Given the description of an element on the screen output the (x, y) to click on. 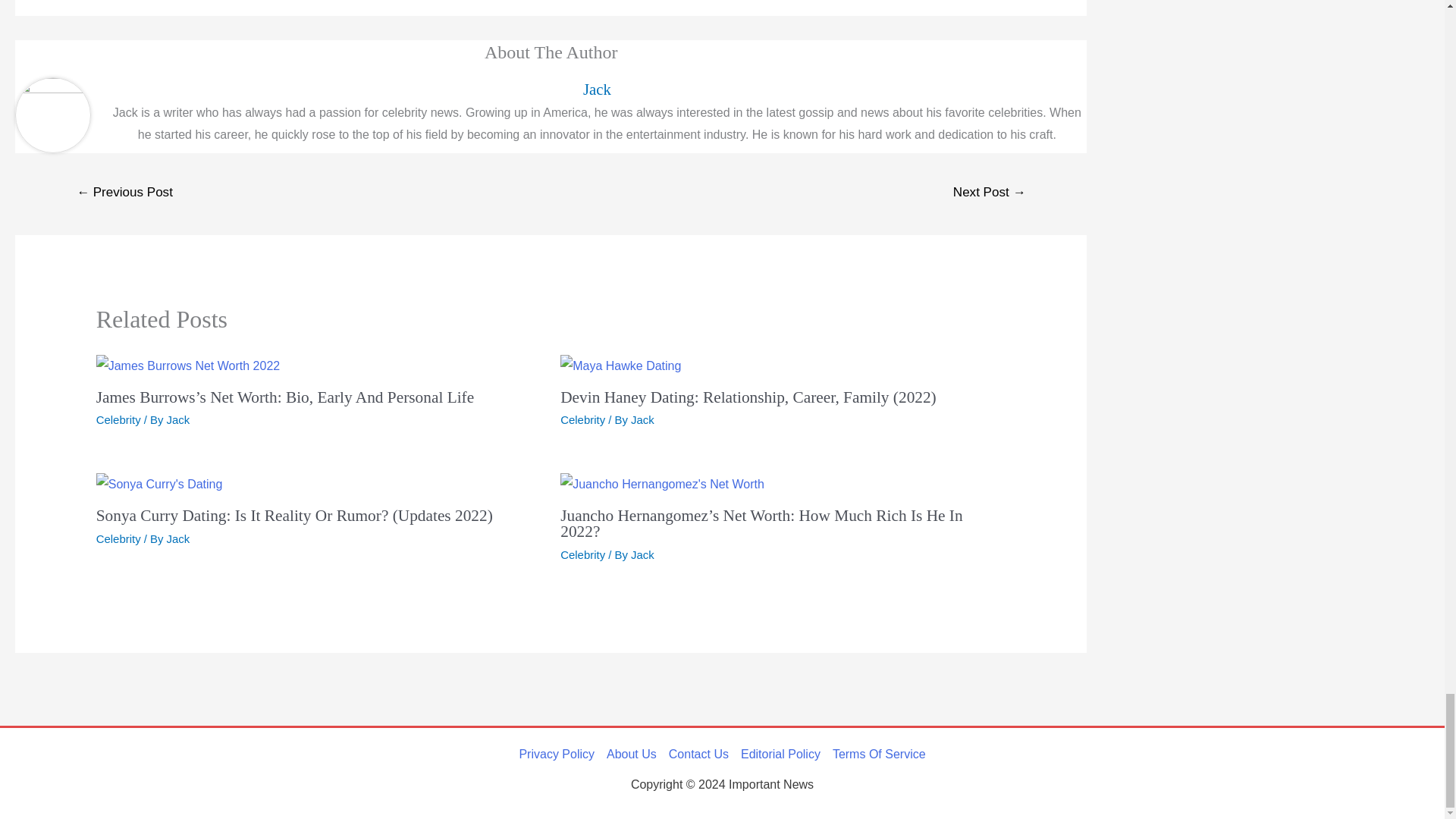
View all posts by Jack (641, 419)
View all posts by Jack (178, 419)
View all posts by Jack (641, 554)
View all posts by Jack (178, 538)
